Given the description of an element on the screen output the (x, y) to click on. 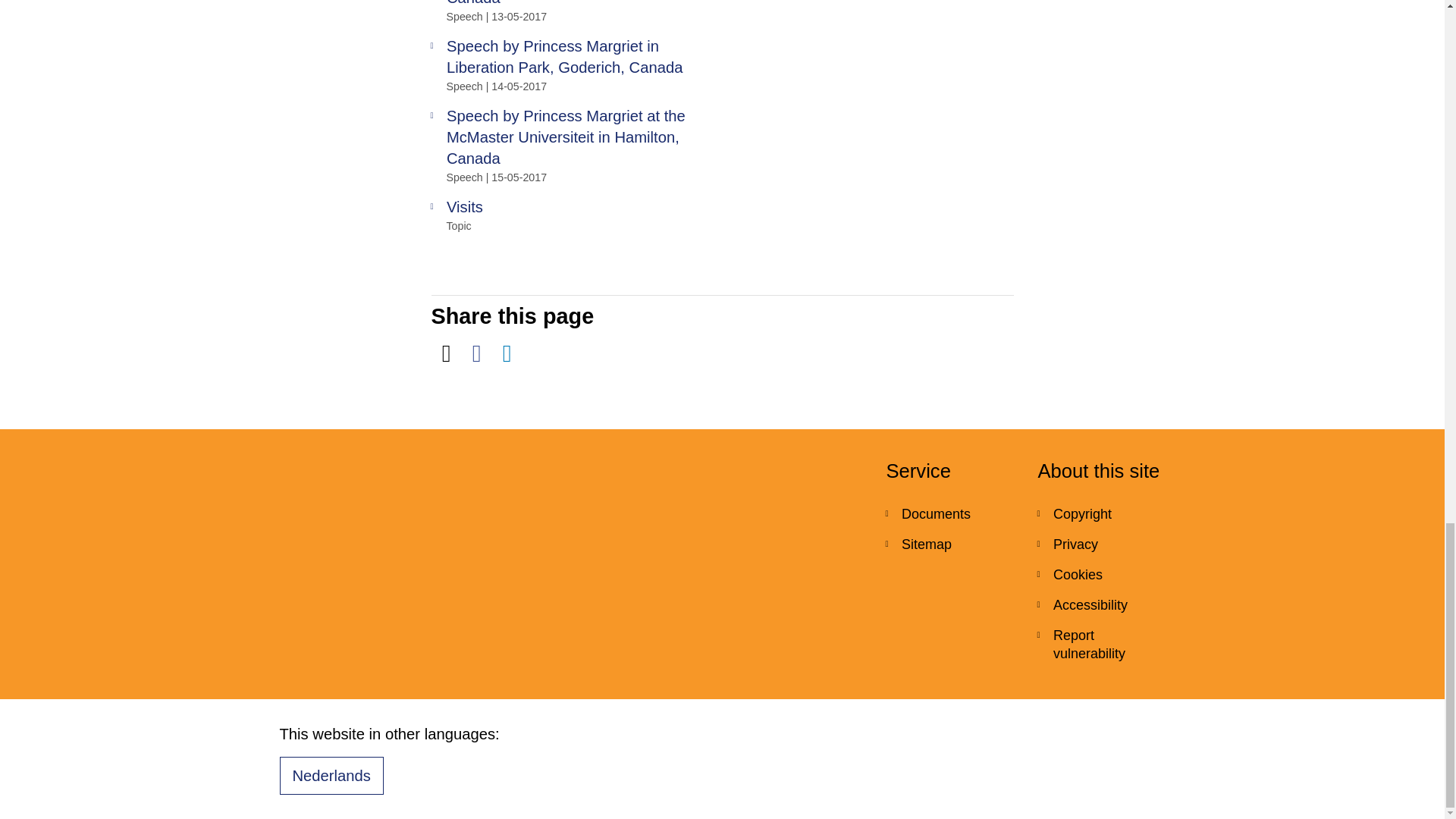
Share this page on your LinkedIn account (506, 353)
Privacy (1100, 544)
Documents (949, 513)
Visits (570, 206)
Copyright (1100, 513)
Share this page on your Facebook account (476, 353)
Nederlands (330, 775)
